Given the description of an element on the screen output the (x, y) to click on. 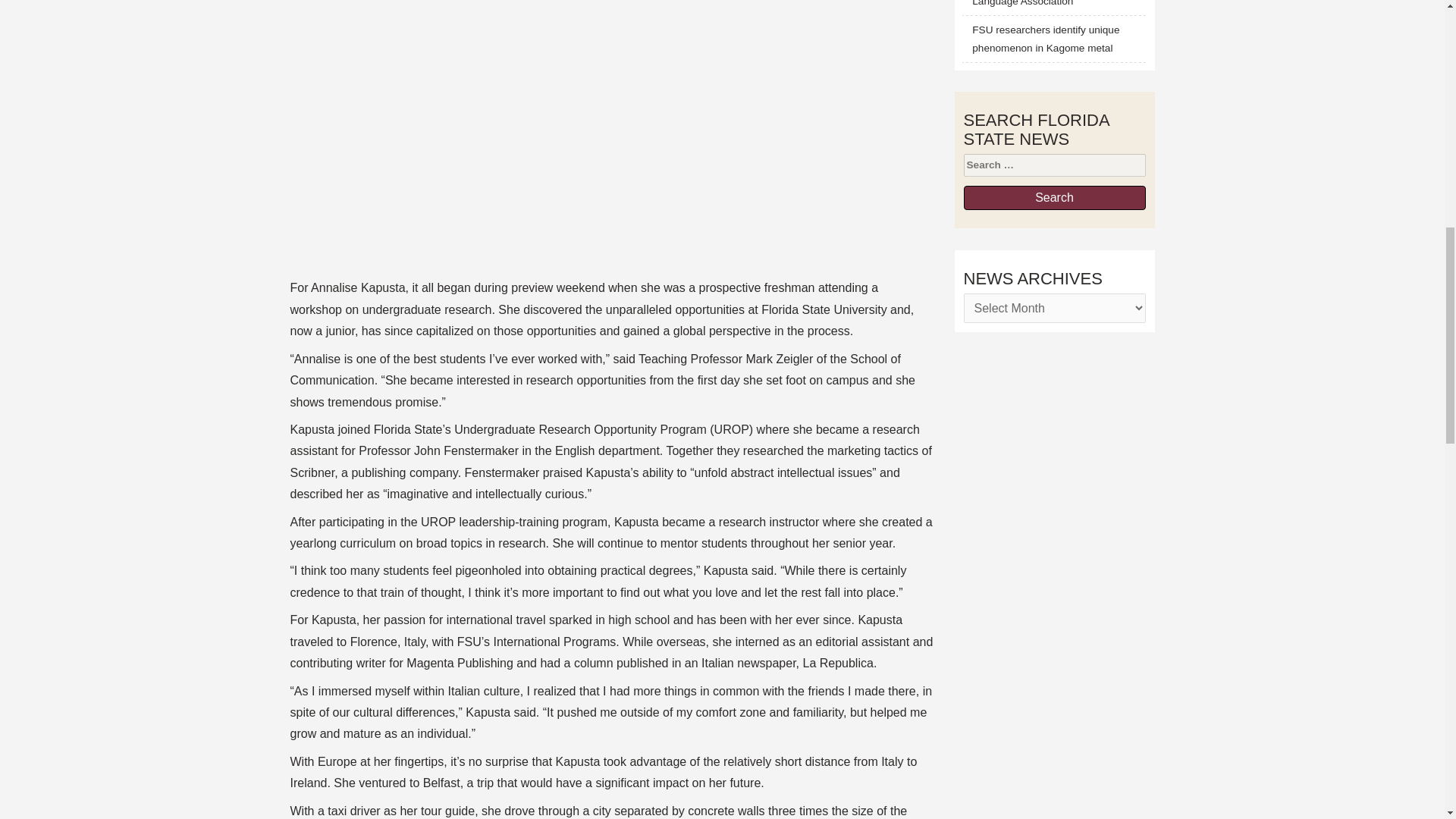
Search (1053, 197)
